Given the description of an element on the screen output the (x, y) to click on. 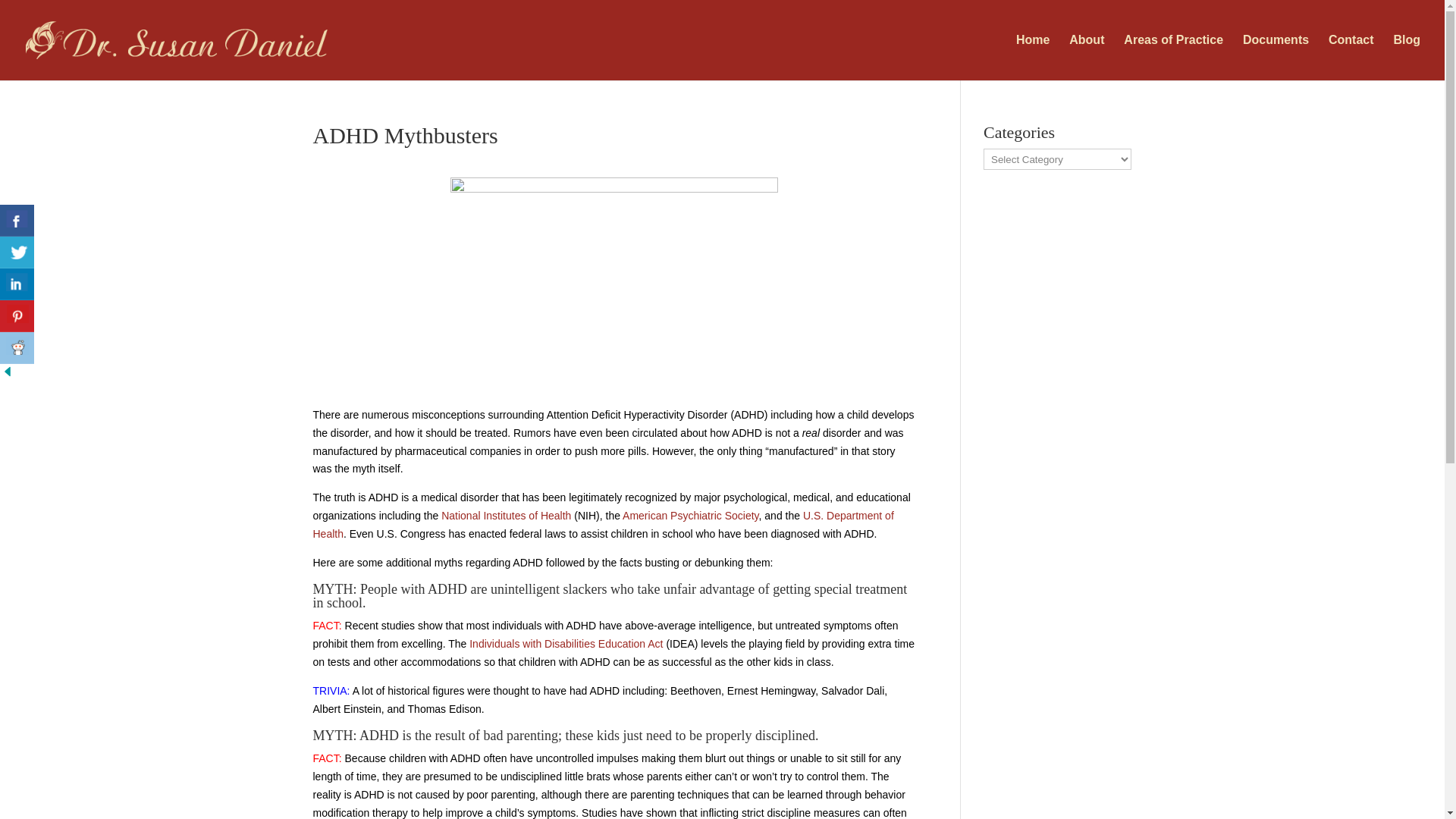
Share On Facebook (16, 220)
Share On Reddit (16, 347)
Share On Twitter (16, 252)
Share On Pinterest (16, 316)
Contact (1350, 57)
Individuals with Disabilities Education Act (566, 644)
National Institutes of Health (505, 515)
Areas of Practice (1173, 57)
Share On Linkedin (16, 284)
Documents (1275, 57)
